Given the description of an element on the screen output the (x, y) to click on. 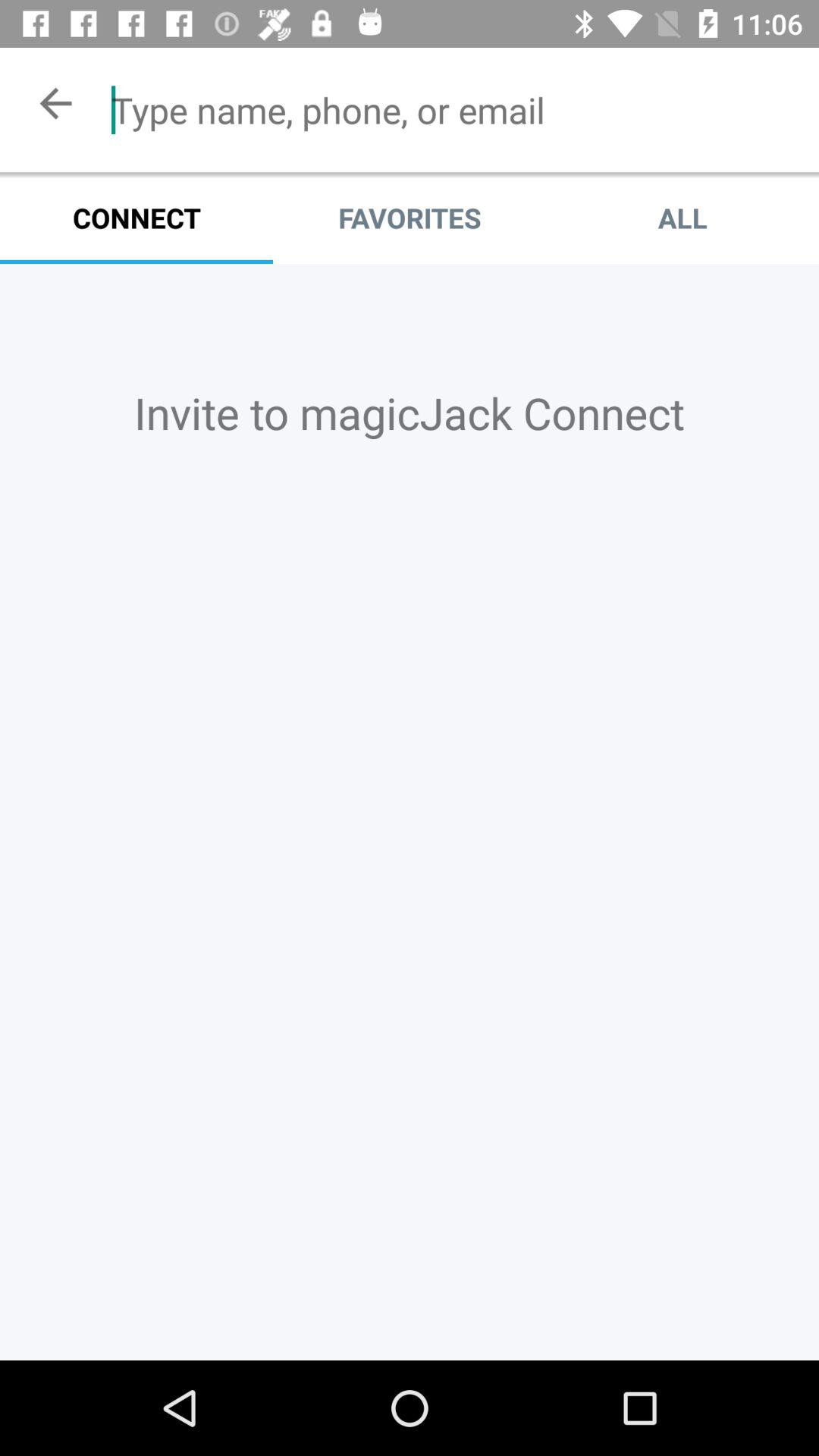
swipe until the favorites item (409, 217)
